Given the description of an element on the screen output the (x, y) to click on. 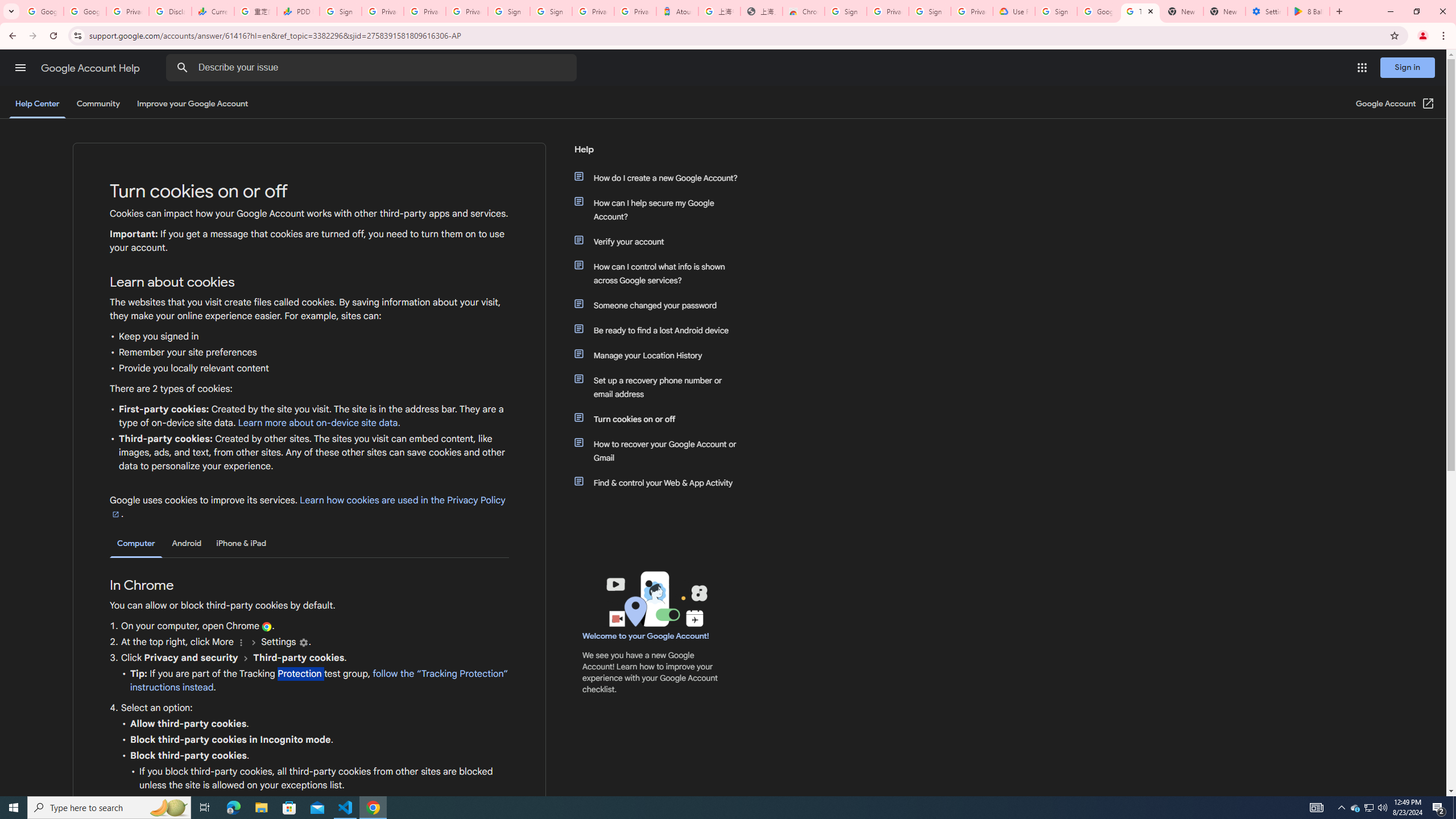
Verify your account (661, 241)
Privacy Checkup (424, 11)
Be ready to find a lost Android device (661, 330)
More (241, 642)
Turn cookies on or off (661, 419)
Describe your issue (373, 67)
Sign in - Google Accounts (1055, 11)
Privacy Checkup (467, 11)
Learn more about on-device site data. (318, 423)
